Given the description of an element on the screen output the (x, y) to click on. 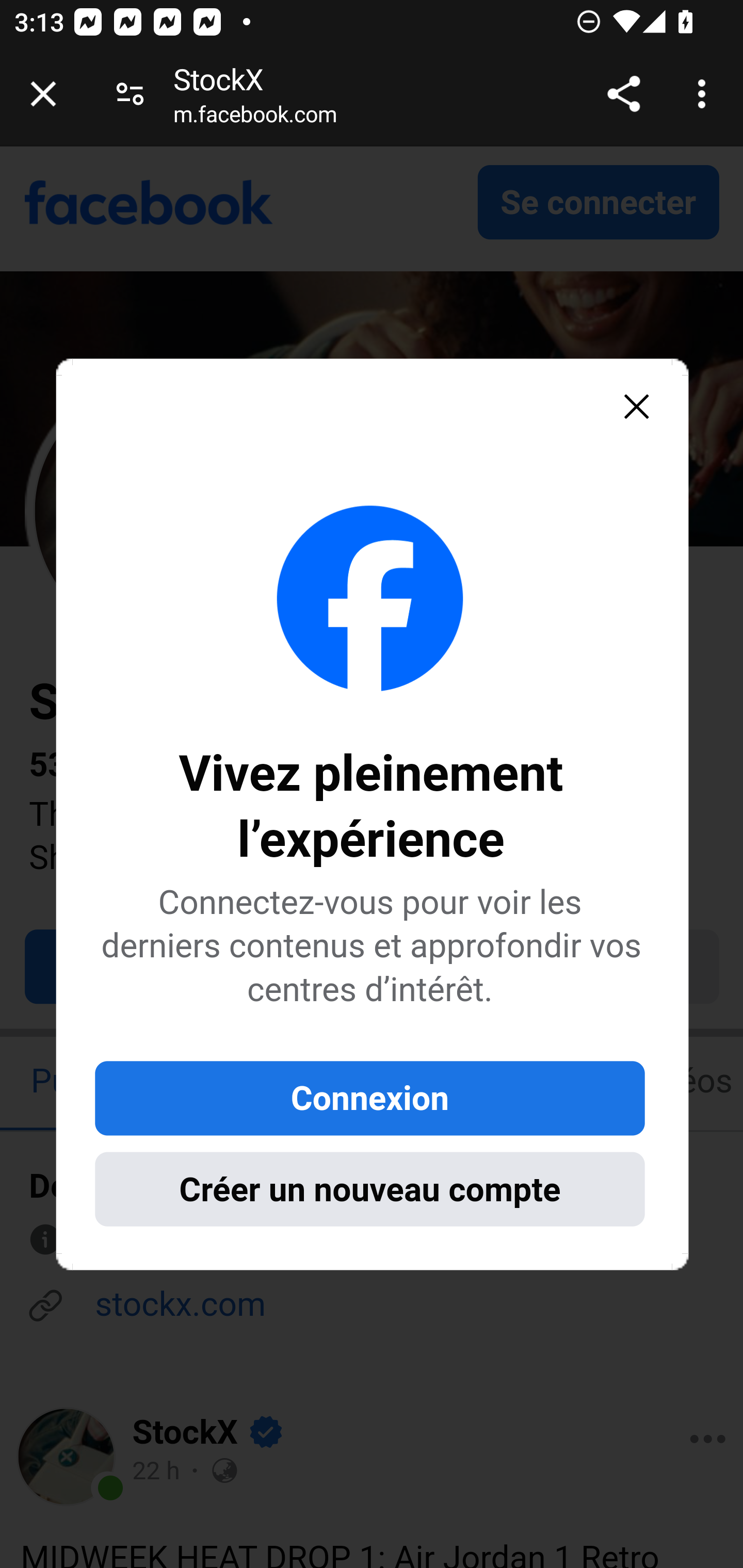
Close tab (43, 93)
Share link address (623, 93)
Customize and control Google Chrome (705, 93)
Connection is secure (129, 93)
m.facebook.com (254, 117)
Connexion (369, 1097)
Créer un nouveau compte (369, 1188)
